Given the description of an element on the screen output the (x, y) to click on. 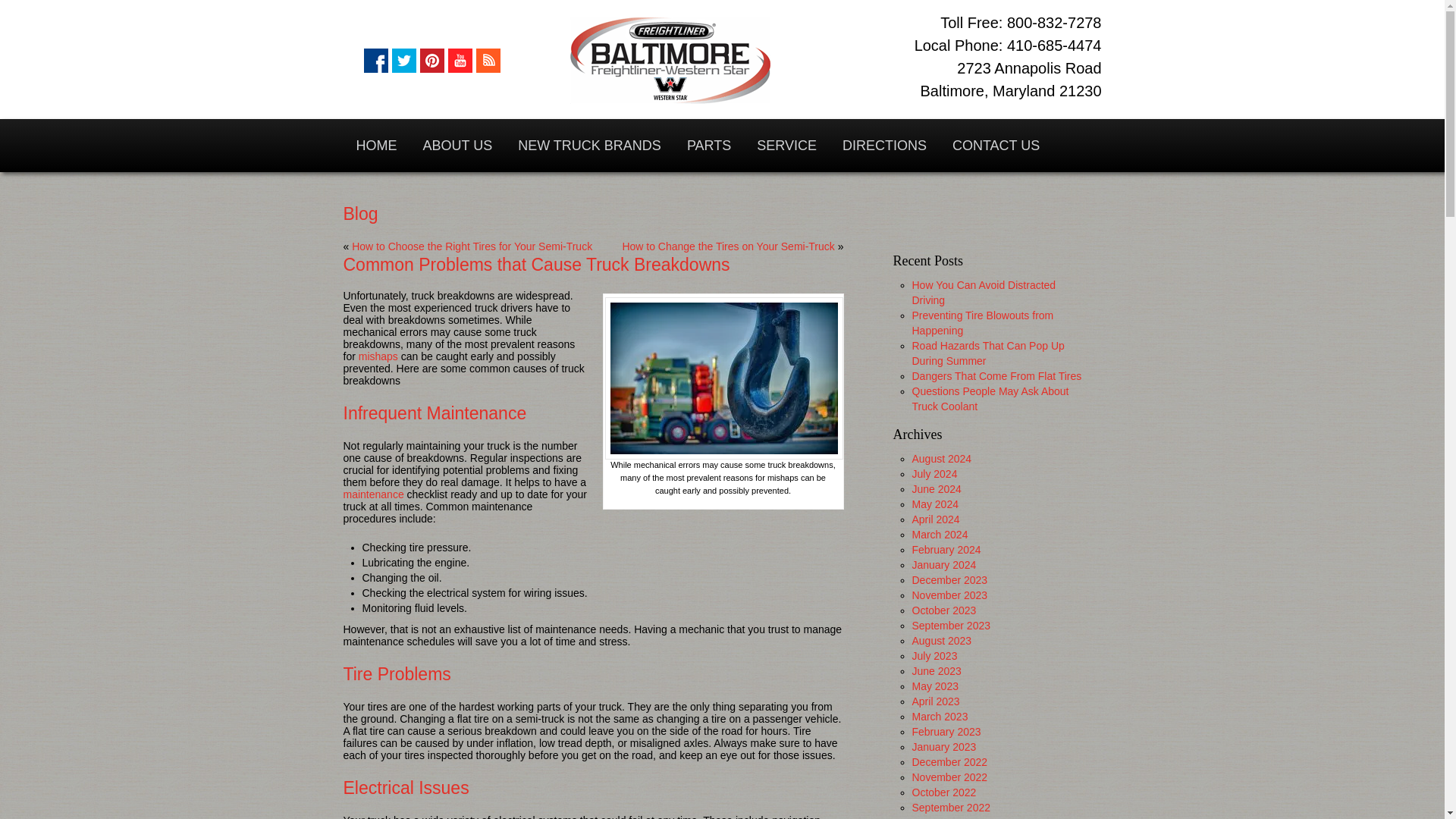
Subscribe to our Blog (488, 60)
ABOUT US (457, 144)
Follow us on Facebook (376, 60)
Follow us on Twitter (402, 60)
Follow us on Pinterest (432, 60)
maintenance (372, 494)
NEW TRUCK BRANDS (589, 144)
HOME (375, 144)
How to Choose the Right Tires for Your Semi-Truck (472, 246)
Follow us on YouTube (458, 60)
